Given the description of an element on the screen output the (x, y) to click on. 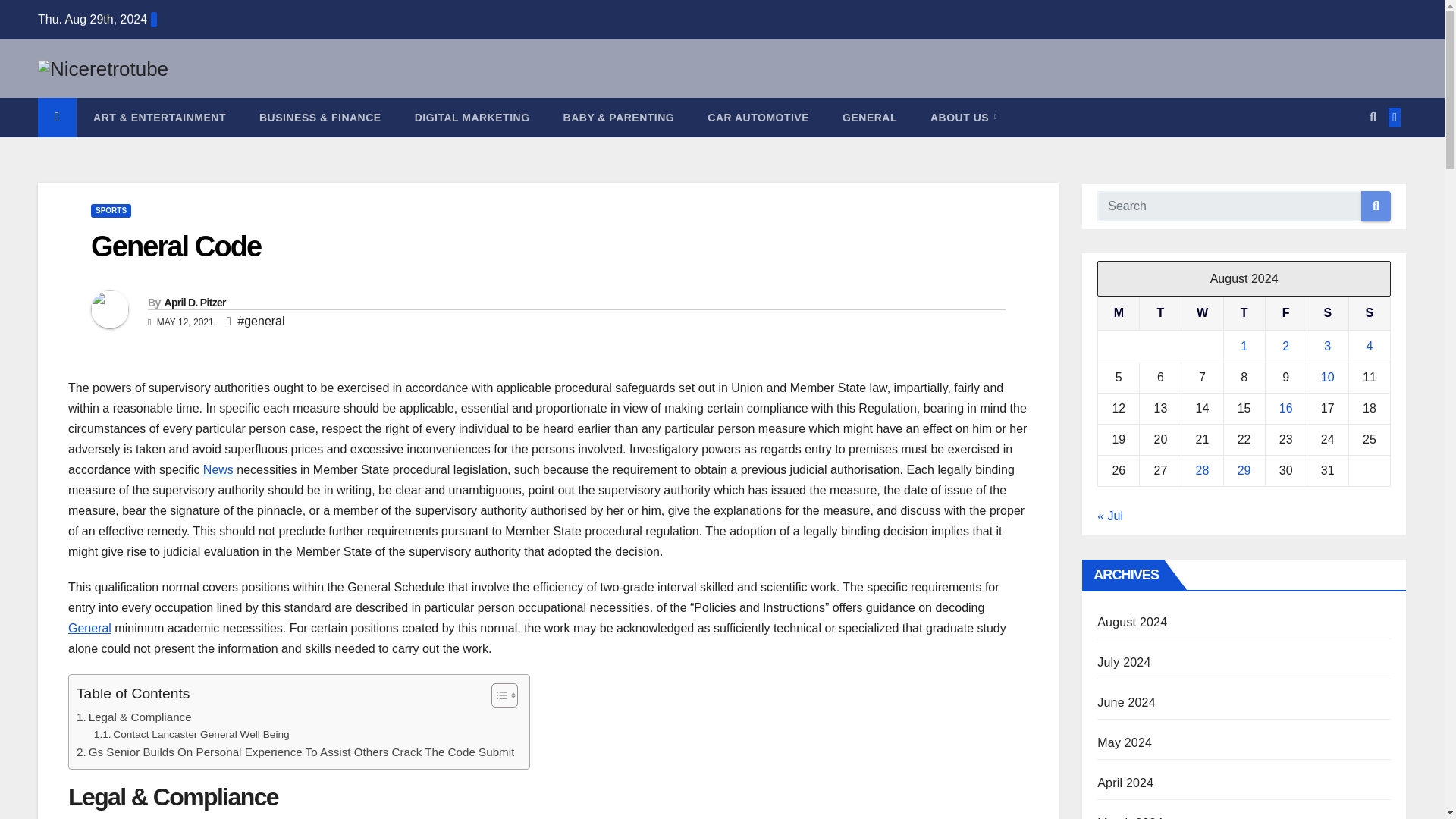
General (90, 627)
General (869, 117)
Car Automotive (757, 117)
General Code (175, 246)
Contact Lancaster General Well Being (191, 734)
About Us (963, 117)
SPORTS (110, 210)
April D. Pitzer (194, 302)
DIGITAL MARKETING (472, 117)
